Given the description of an element on the screen output the (x, y) to click on. 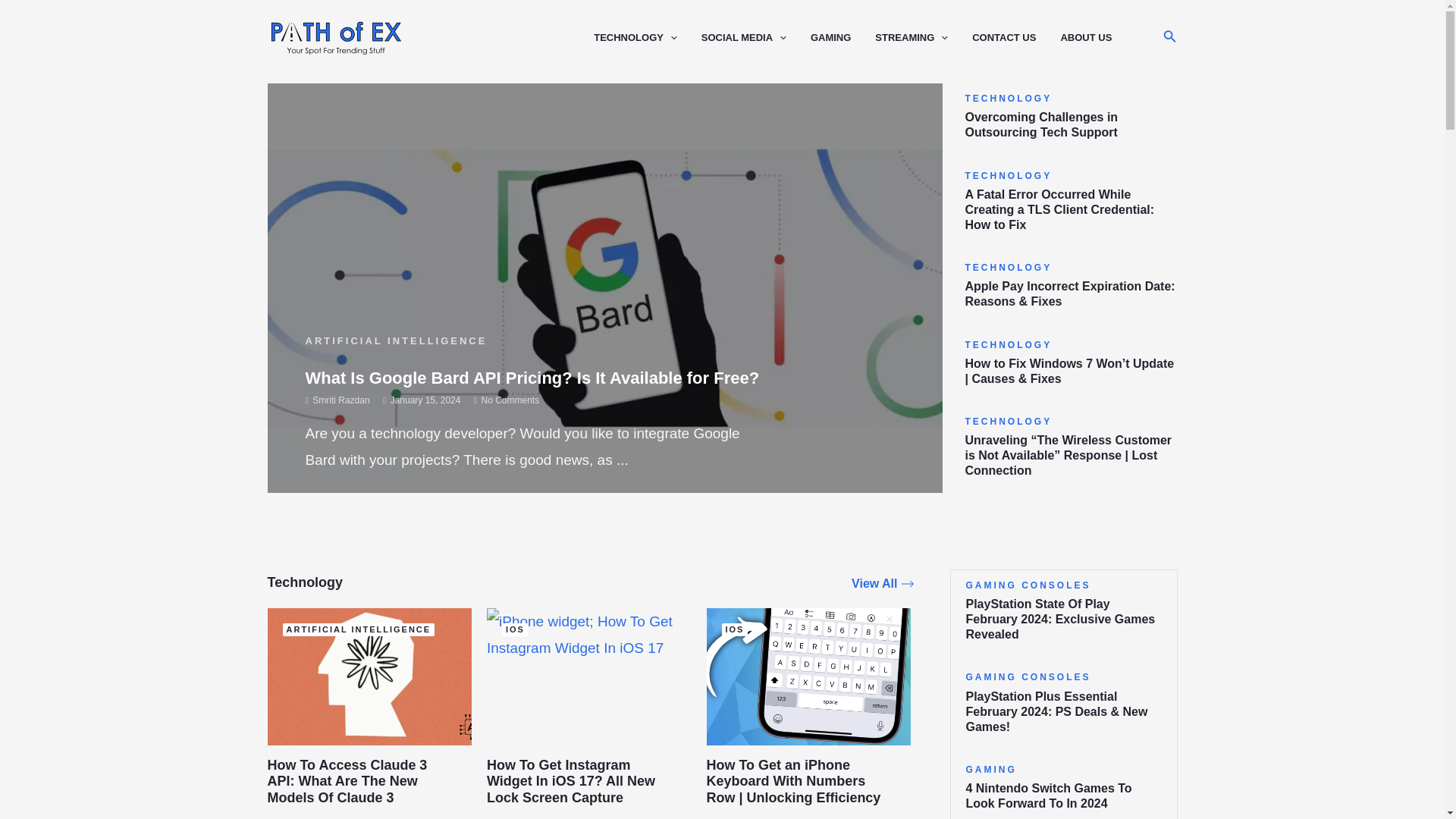
Posts by Smriti Razdan (341, 399)
ABOUT US (1097, 38)
TECHNOLOGY (647, 38)
CONTACT US (1015, 38)
STREAMING (923, 38)
SOCIAL MEDIA (755, 38)
